Given the description of an element on the screen output the (x, y) to click on. 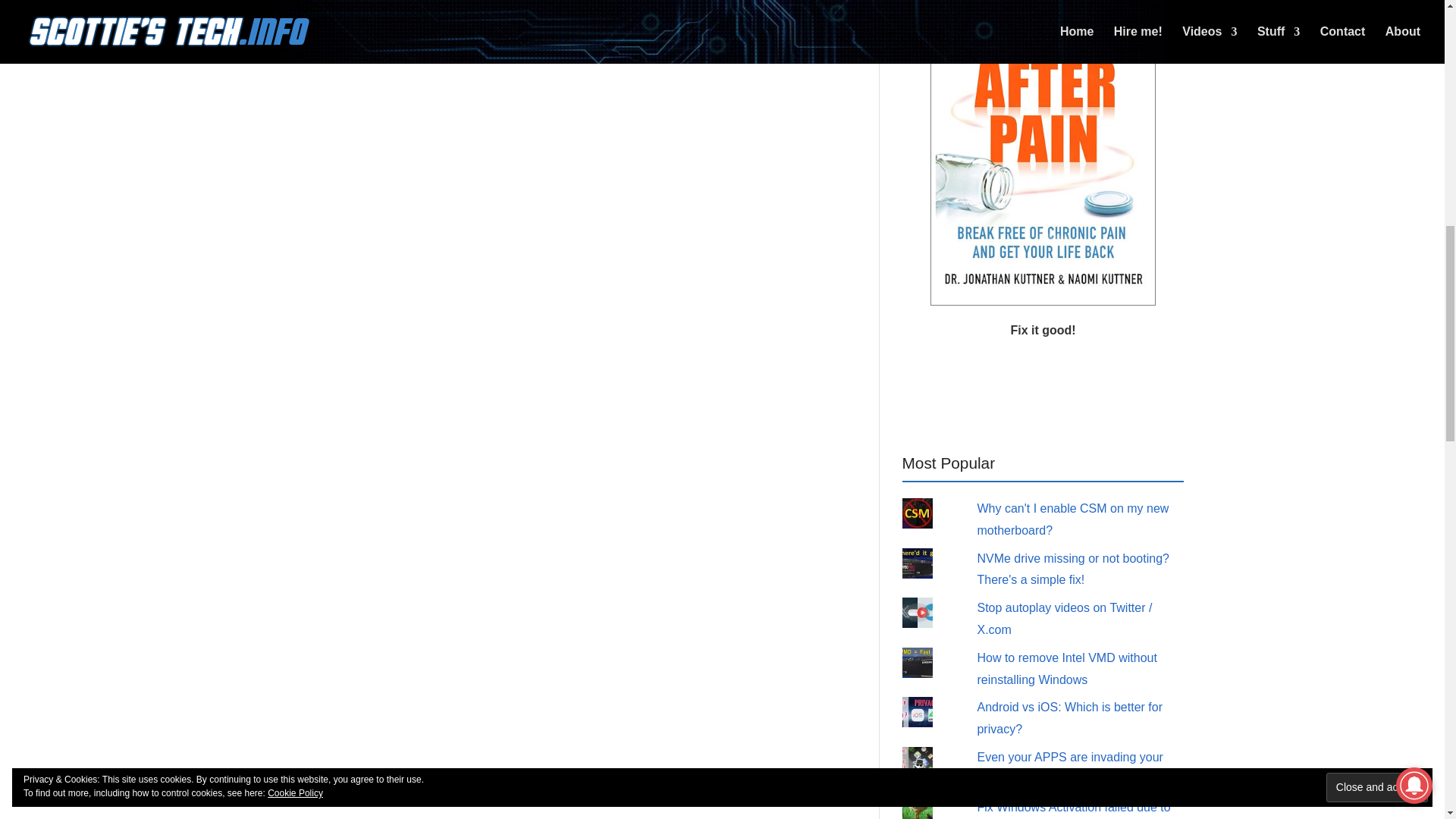
Why can't I enable CSM on my new motherboard? (1072, 519)
How to remove Intel VMD without reinstalling Windows (1066, 668)
NVMe drive missing or not booting? There's a simple fix! (1072, 569)
